Given the description of an element on the screen output the (x, y) to click on. 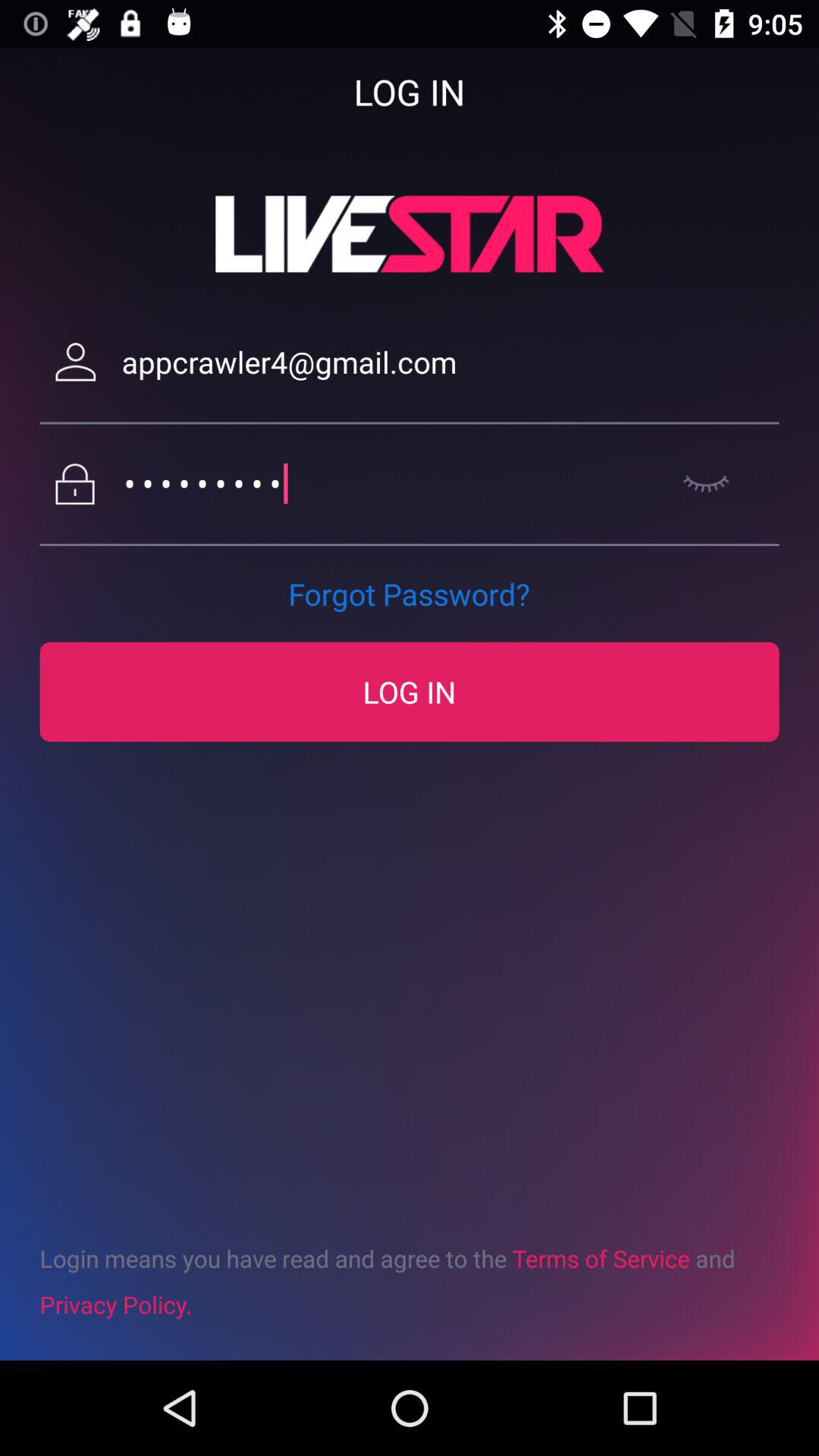
flip to appcrawler4@gmail.com icon (450, 362)
